Given the description of an element on the screen output the (x, y) to click on. 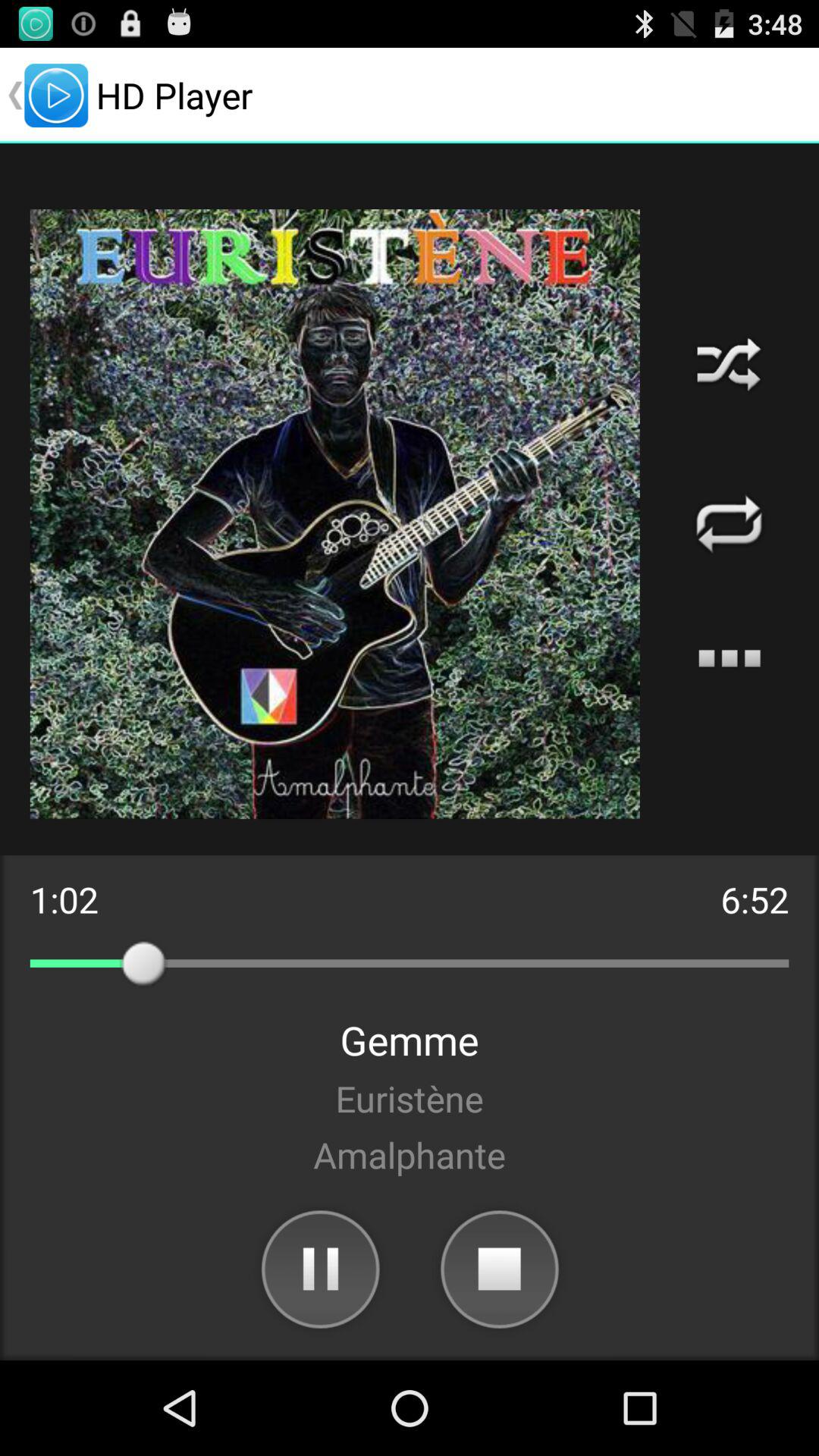
open the 1:02 on the left (64, 899)
